Given the description of an element on the screen output the (x, y) to click on. 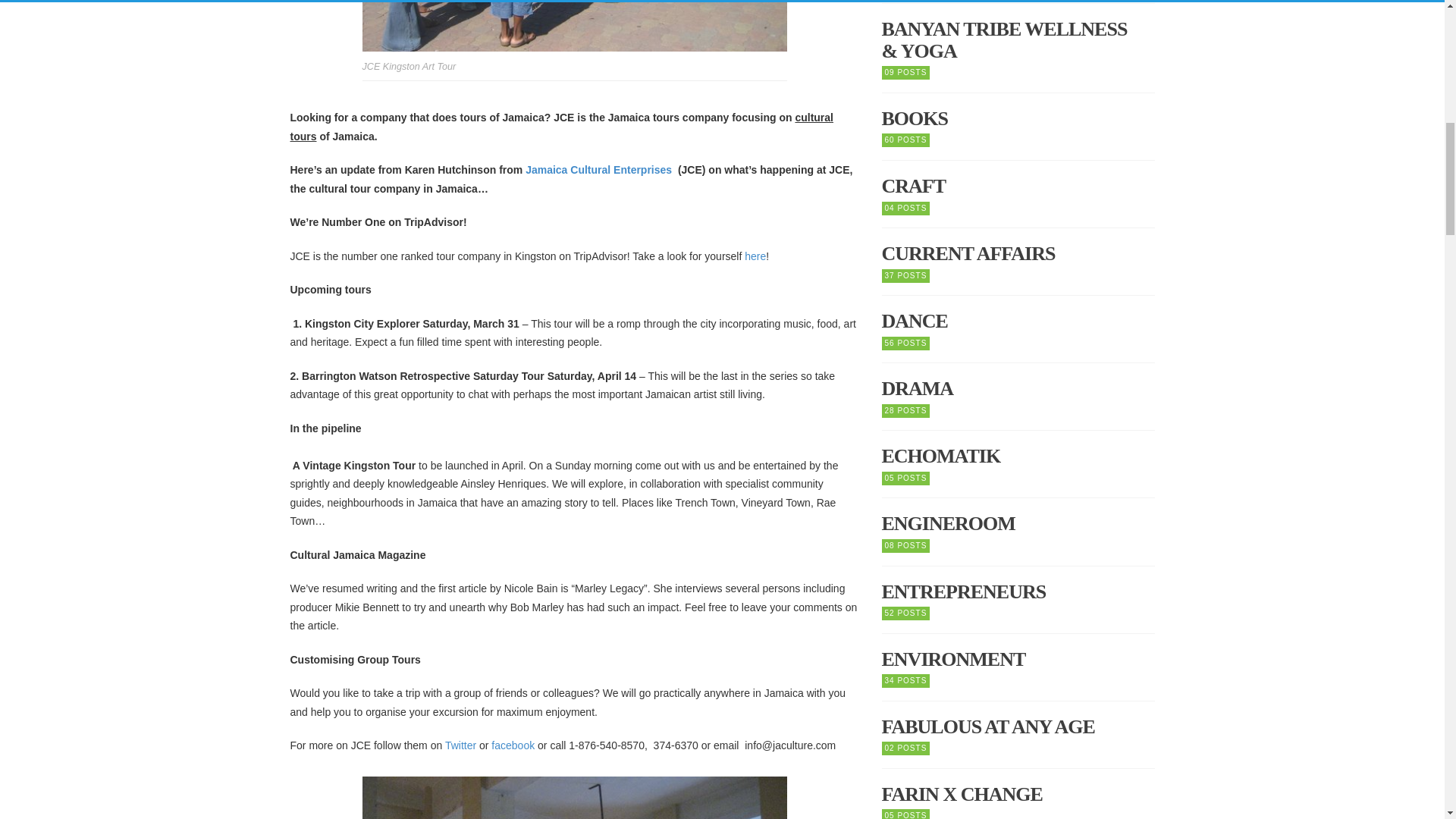
View posts in Craft (1017, 187)
ROKTOWA (574, 797)
JCE (574, 26)
Jamaica Cultural Enterprises  (600, 169)
View posts in Drama (1017, 389)
View posts in Environment (1017, 659)
here (754, 256)
View posts in Echomatik (1017, 456)
facebook  (514, 745)
View posts in Current Affairs (1017, 254)
